Given the description of an element on the screen output the (x, y) to click on. 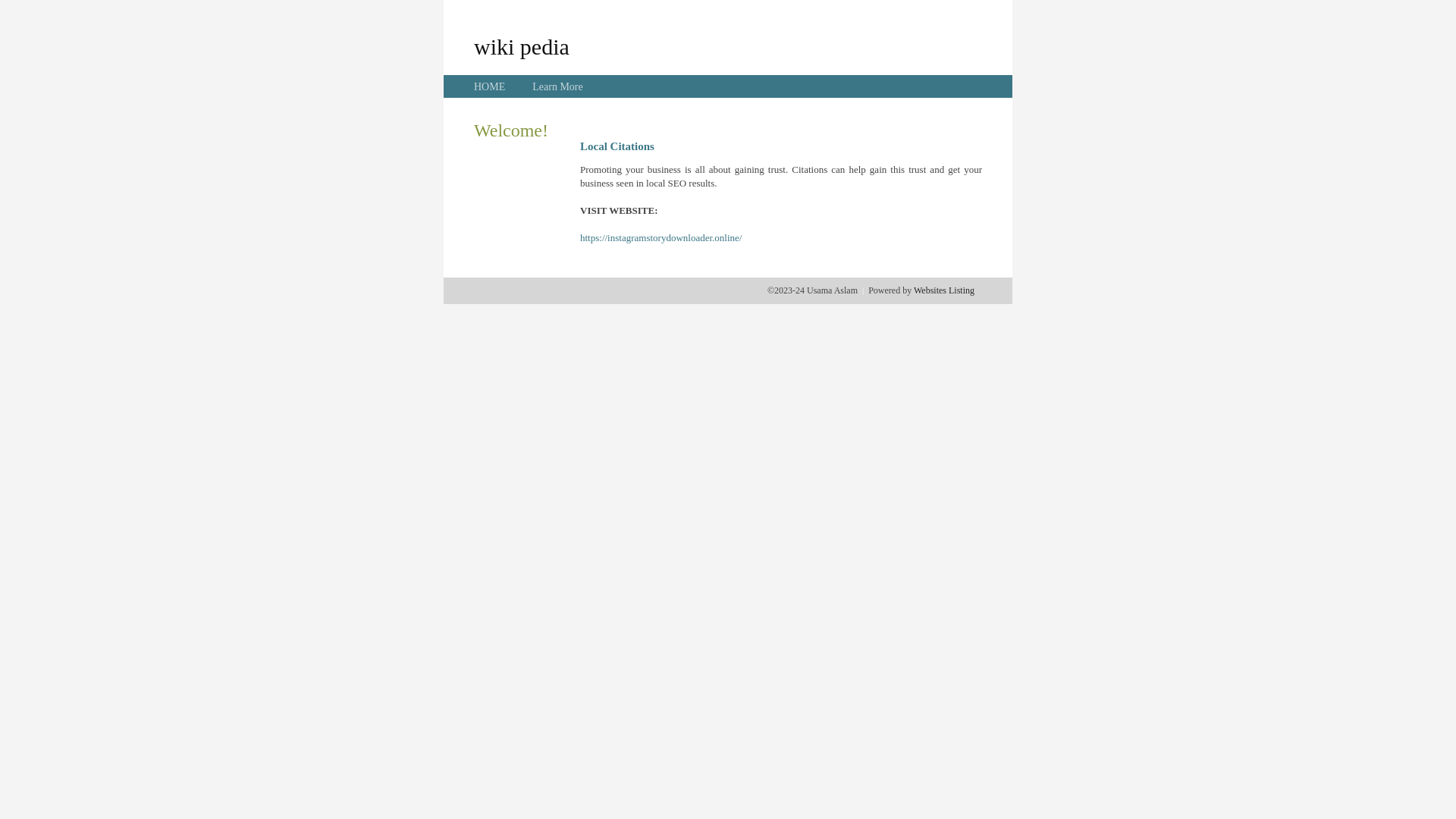
HOME Element type: text (489, 86)
https://instagramstorydownloader.online/ Element type: text (660, 237)
Websites Listing Element type: text (943, 290)
Learn More Element type: text (557, 86)
wiki pedia Element type: text (521, 46)
